Given the description of an element on the screen output the (x, y) to click on. 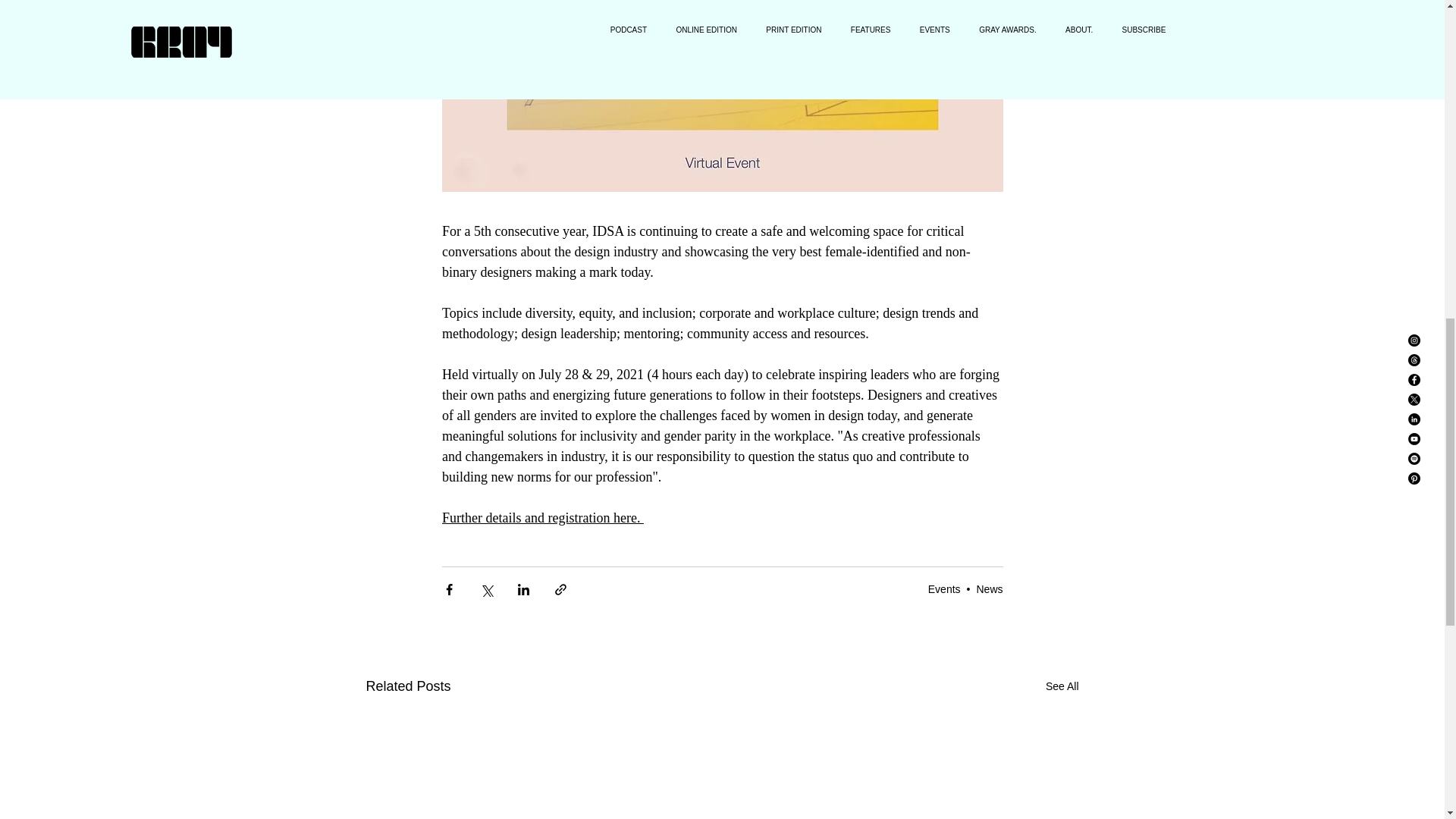
Events (944, 589)
See All (1061, 686)
News (989, 589)
Further details and registration here.  (542, 517)
